Given the description of an element on the screen output the (x, y) to click on. 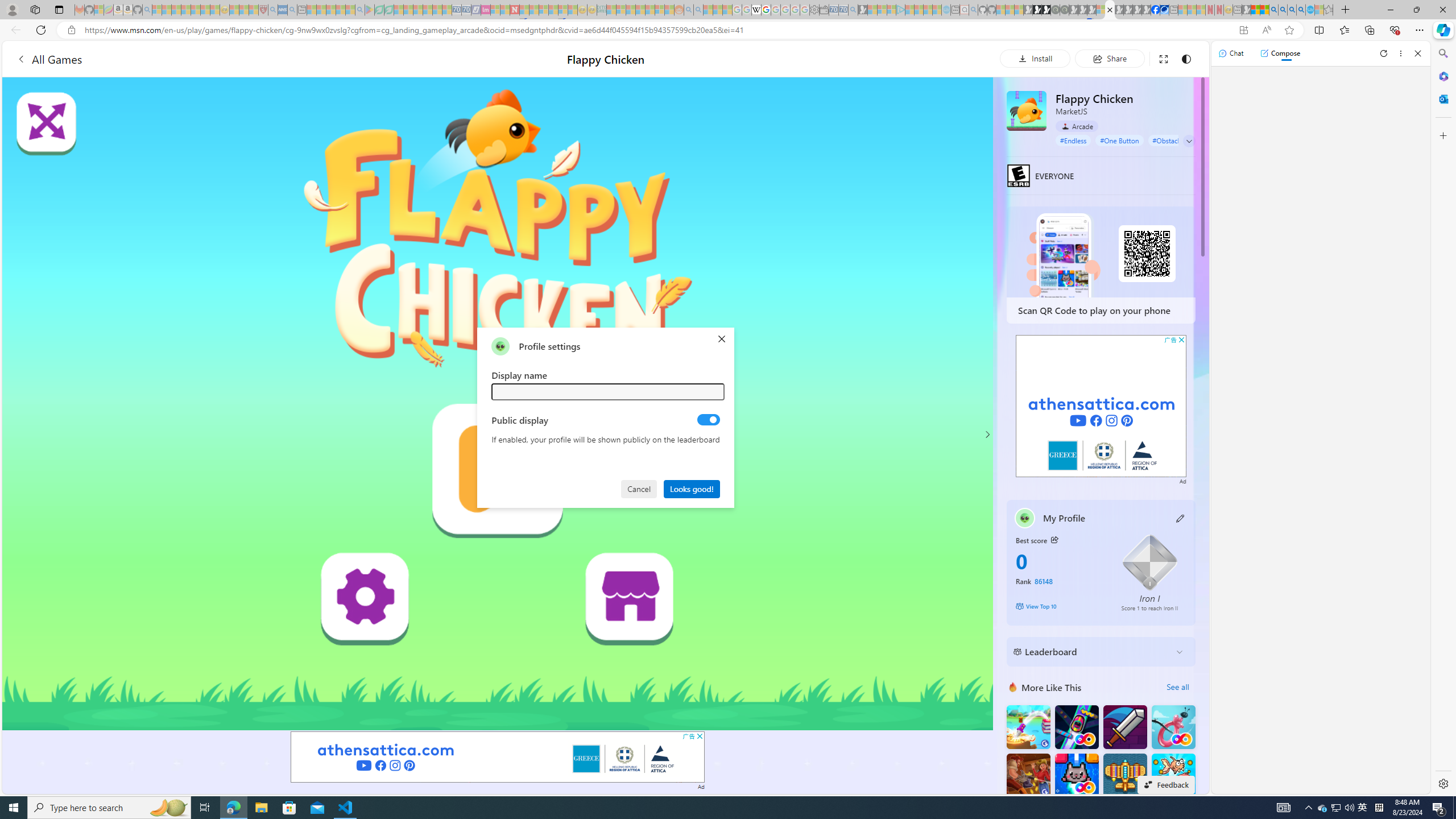
Future Focus Report 2024 - Sleeping (1064, 9)
Services - Maintenance | Sky Blue Bikes - Sky Blue Bikes (1309, 9)
Bing AI - Search (1272, 9)
Share (1109, 58)
Balloon FRVR (1173, 726)
Expert Portfolios - Sleeping (639, 9)
Settings - Sleeping (814, 9)
